Given the description of an element on the screen output the (x, y) to click on. 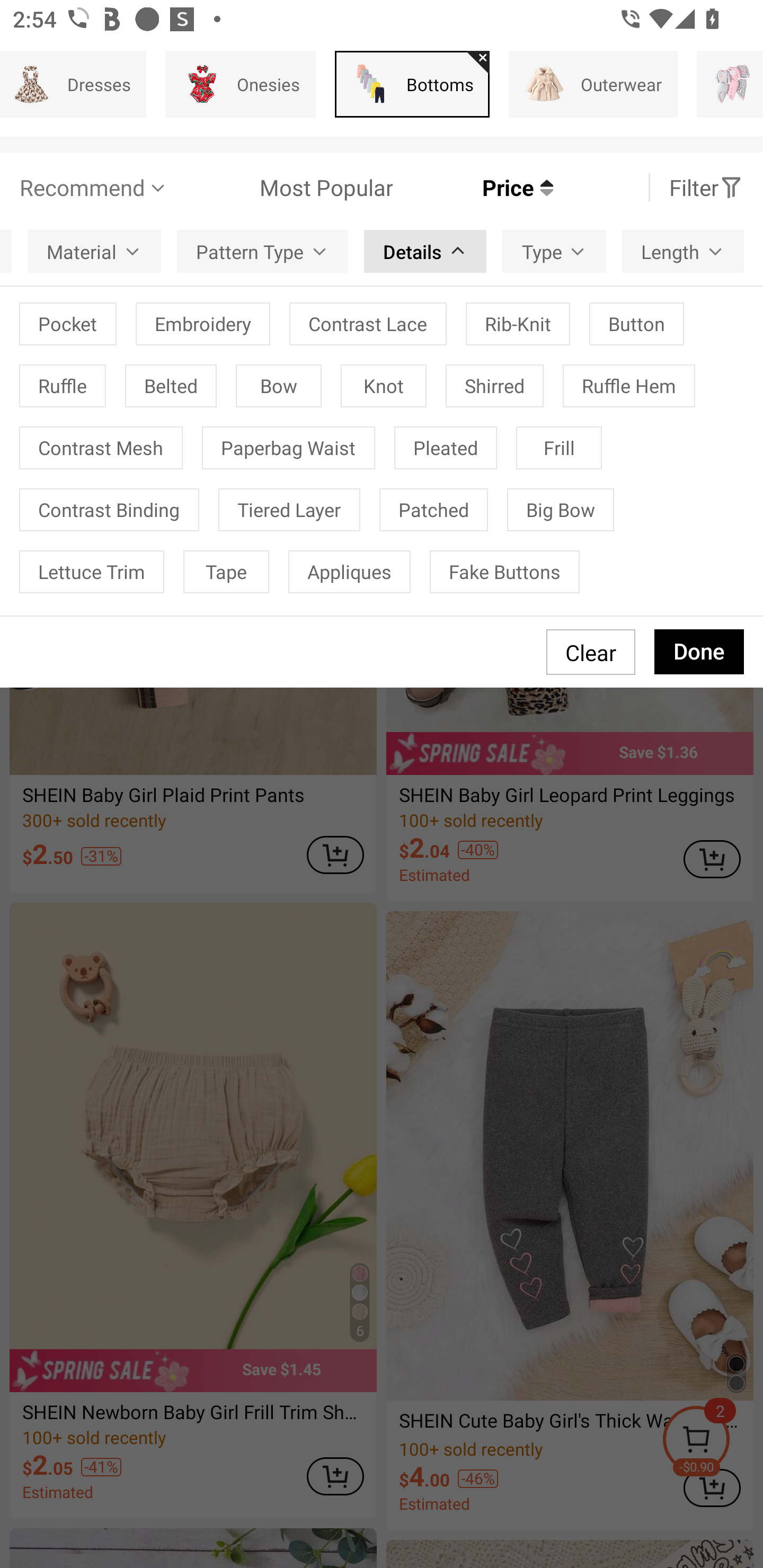
Dresses (73, 83)
Onesies (240, 83)
Bottoms (411, 83)
Outerwear (592, 83)
Recommend (93, 187)
Most Popular (280, 187)
Price (472, 187)
Filter (705, 187)
Material (93, 251)
Pattern Type (262, 251)
Details (424, 251)
Type (553, 251)
Length (682, 251)
